Given the description of an element on the screen output the (x, y) to click on. 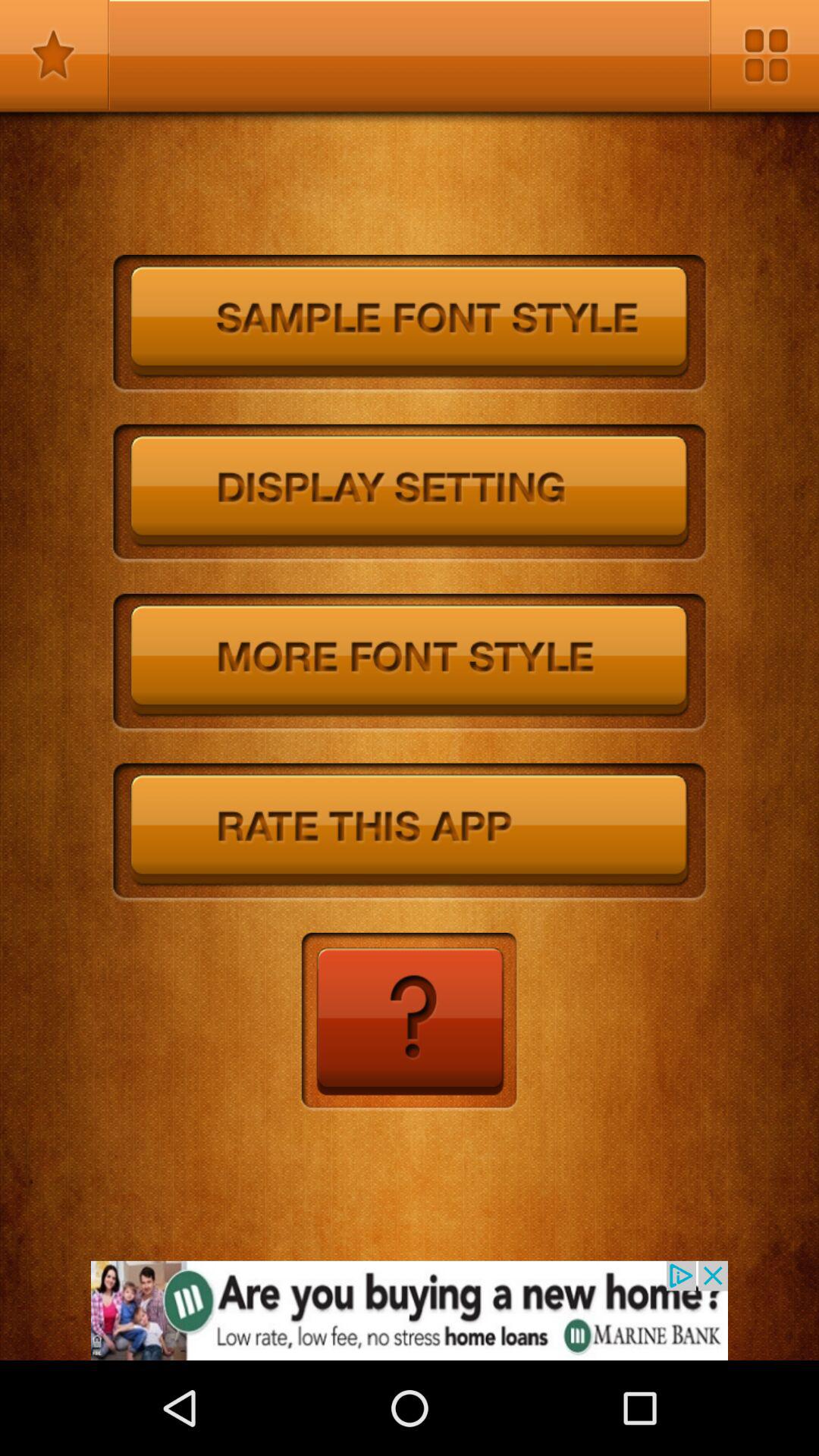
toggle autoplay option (409, 493)
